Given the description of an element on the screen output the (x, y) to click on. 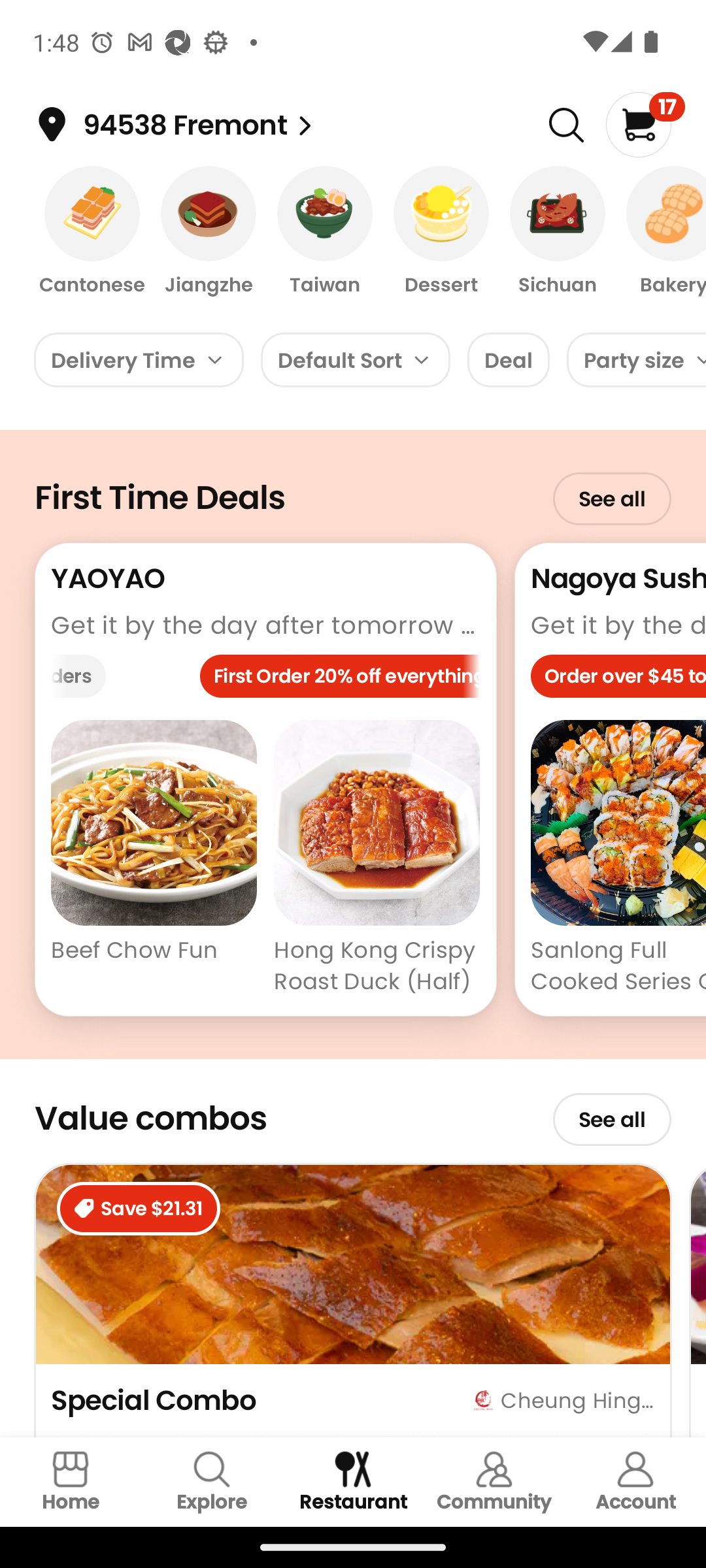
Image (565, 125)
94538 Fremont Image (304, 124)
17 (644, 124)
Image Cantonese (91, 231)
Image Jiangzhe (208, 231)
Image Taiwan (324, 231)
Image Dessert (441, 231)
Image Sichuan (557, 231)
Image Bakery (660, 231)
Delivery Time Image (138, 359)
Default Sort Image (355, 359)
Deal (508, 359)
Party size Image (636, 359)
First Time Deals See all (353, 485)
First Order 20% off everything 700+ Orders (265, 680)
Order over $45 to get $6 off (618, 680)
Beef Chow Fun (153, 859)
Hong Kong Crispy Roast Duck (Half) (376, 859)
Sanlong Full Cooked Series Combo (618, 859)
Value combos See all (353, 1110)
Home (70, 1482)
Explore (211, 1482)
Restaurant (352, 1482)
Community (493, 1482)
Account (635, 1482)
